Given the description of an element on the screen output the (x, y) to click on. 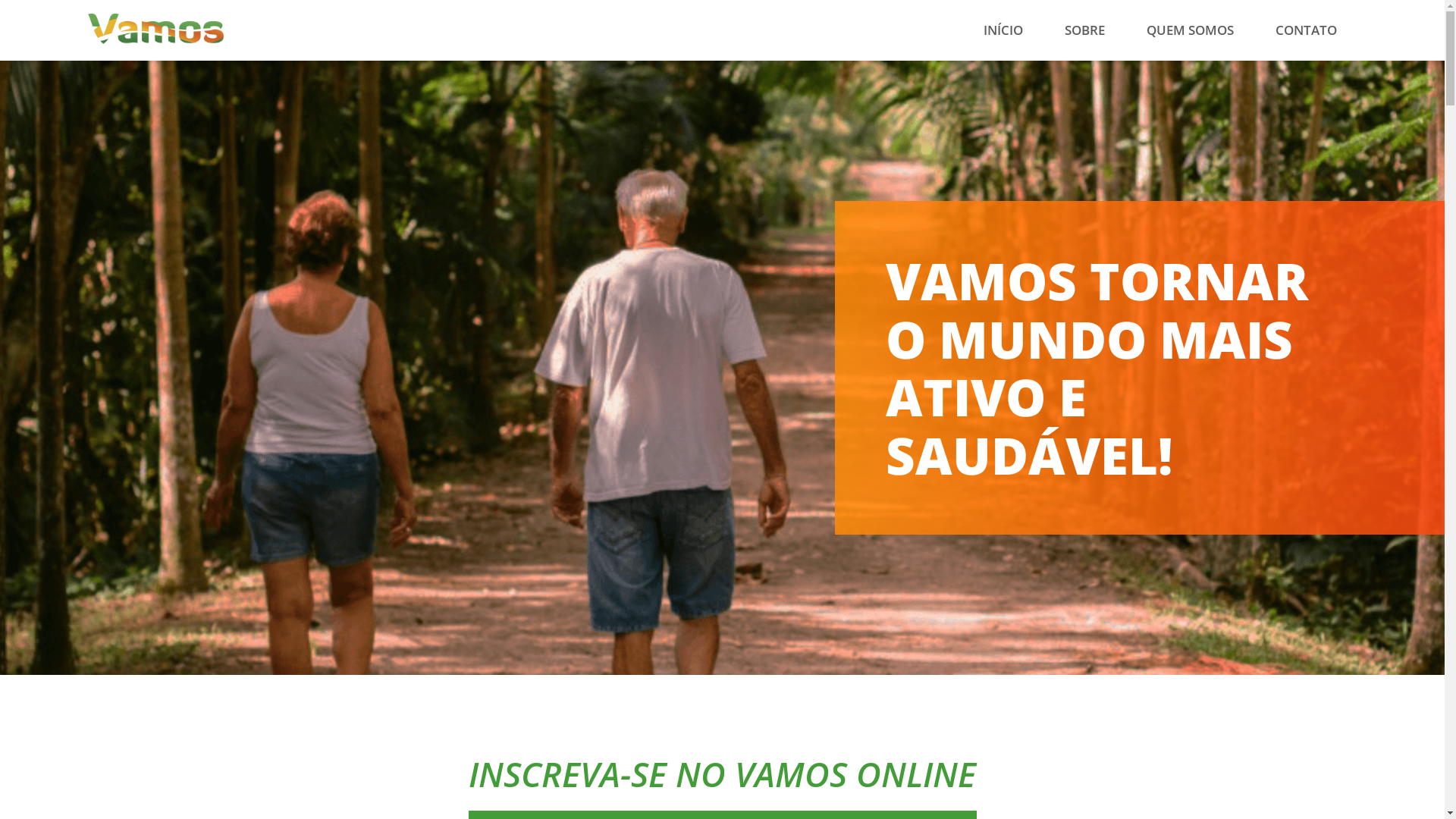
Vamos Element type: hover (155, 27)
QUEM SOMOS Element type: text (1189, 30)
CONTATO Element type: text (1305, 30)
SOBRE Element type: text (1084, 30)
